Given the description of an element on the screen output the (x, y) to click on. 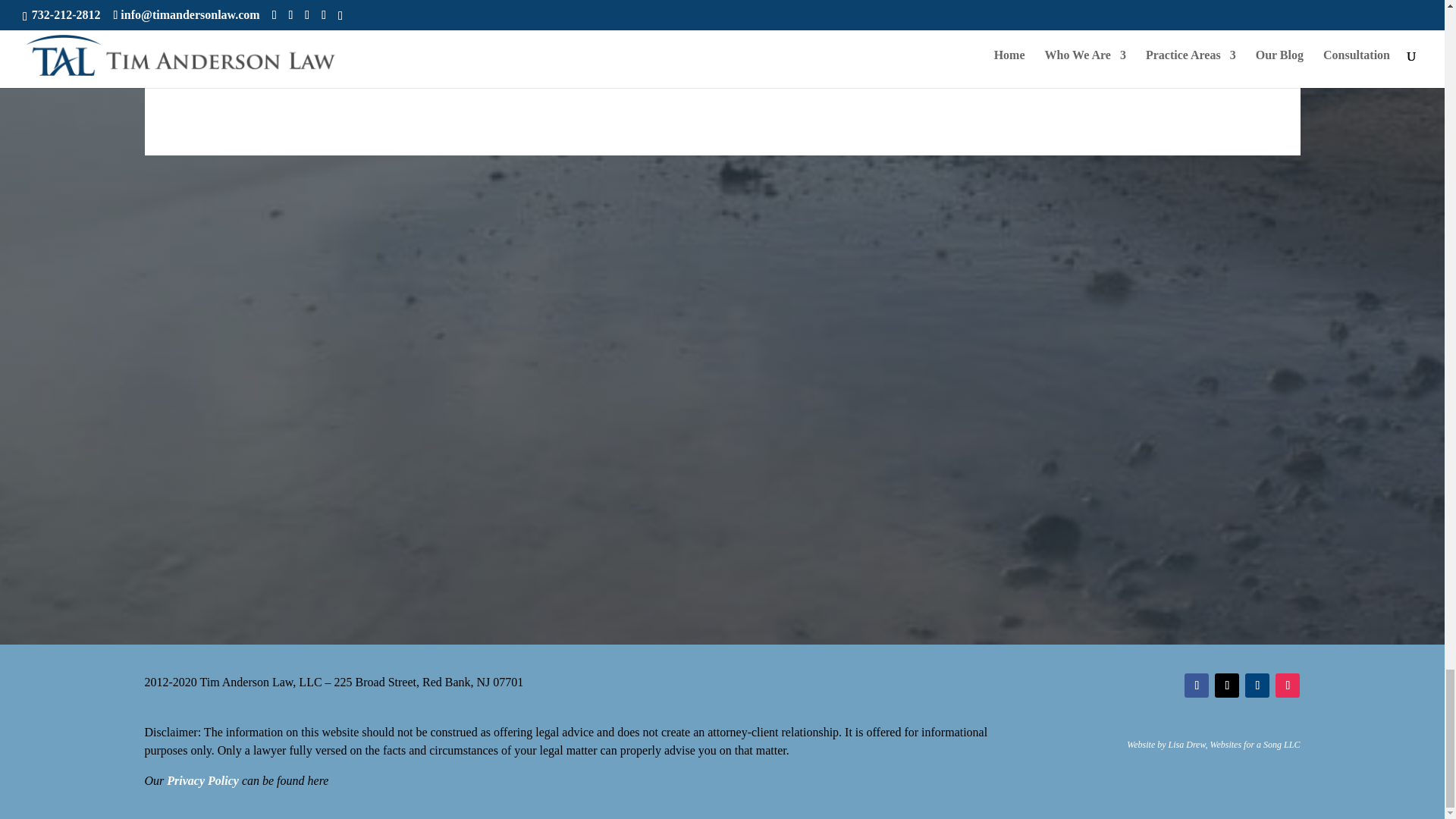
TAL LOGO2 (722, 55)
Follow on Avvo (1256, 685)
Follow on X (1226, 685)
Follow on Instagram (1287, 685)
Follow on Facebook (1196, 685)
